Given the description of an element on the screen output the (x, y) to click on. 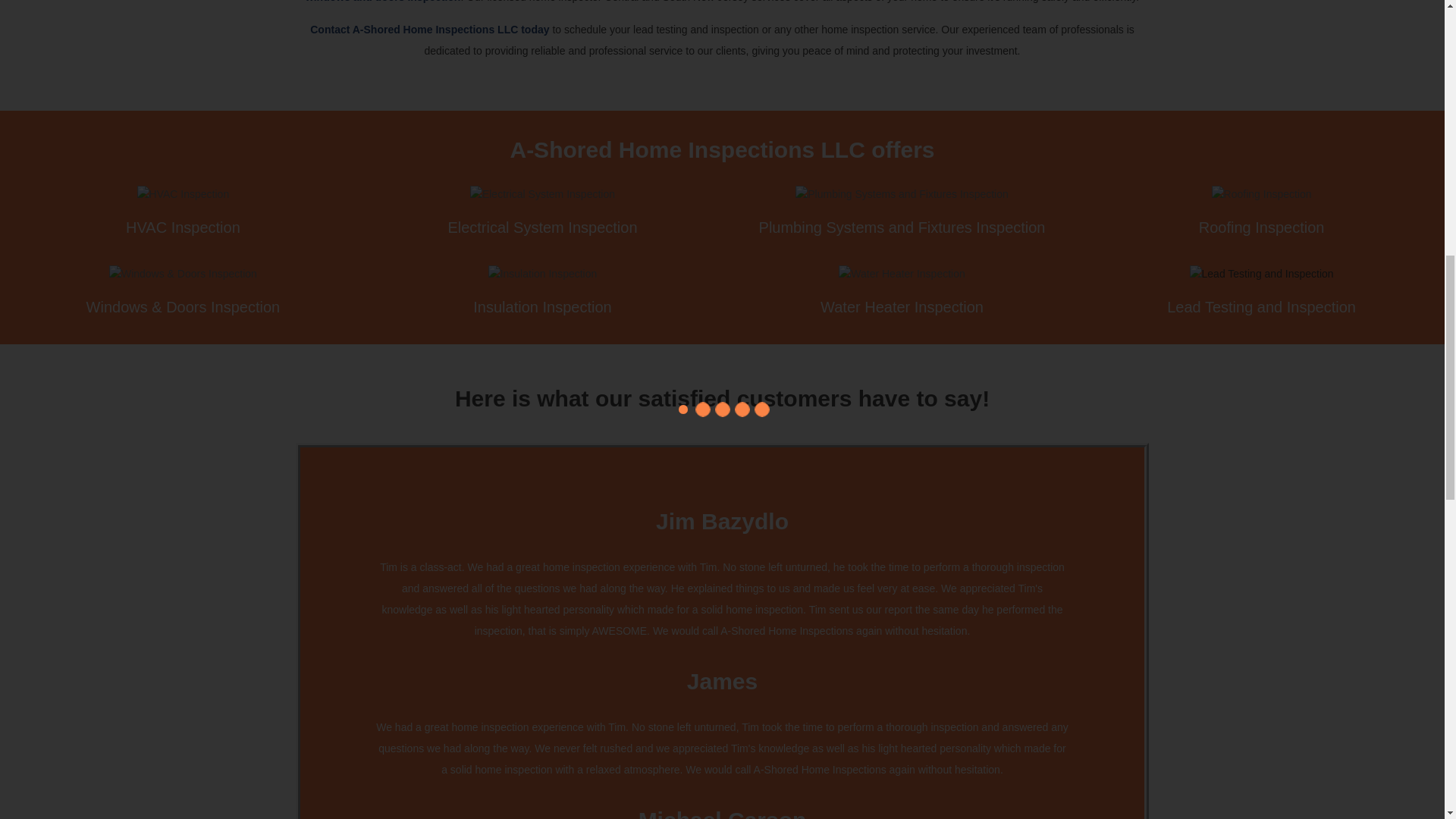
Electrical System Inspection (541, 227)
Plumbing Systems and Fixtures Inspection (901, 227)
Contact A-Shored Home Inspections LLC today (429, 29)
HVAC Inspection (182, 227)
windows and doors inspection (383, 1)
Roofing Inspection (1261, 227)
